Given the description of an element on the screen output the (x, y) to click on. 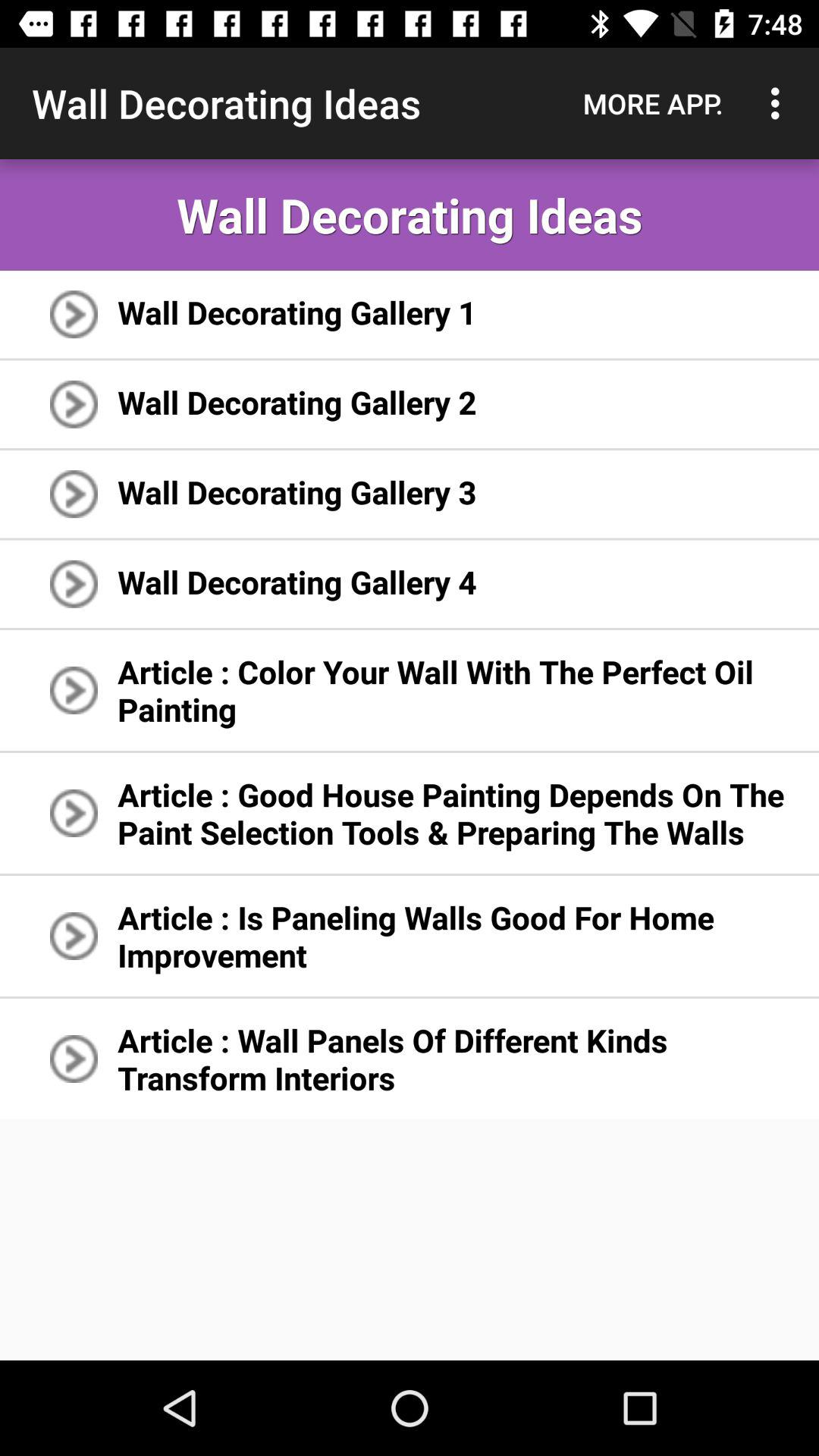
turn off the item to the right of the more app. icon (779, 103)
